Given the description of an element on the screen output the (x, y) to click on. 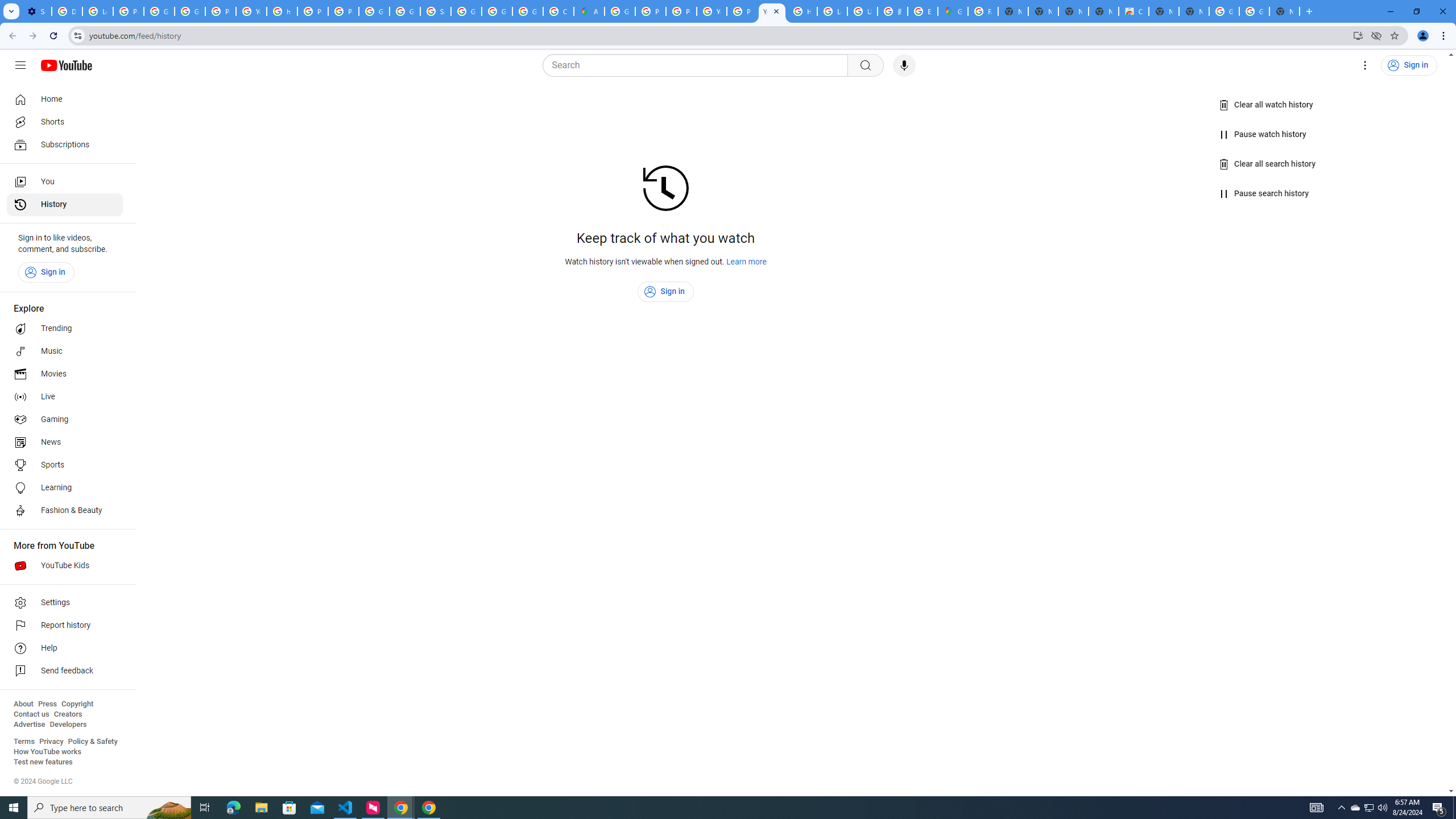
Terms (23, 741)
New Tab (1283, 11)
Copyright (77, 703)
Privacy Help Center - Policies Help (312, 11)
Sign in (665, 291)
Guide (20, 65)
Google Account Help (158, 11)
Contact us (31, 714)
Explore new street-level details - Google Maps Help (922, 11)
YouTube Home (66, 65)
